Given the description of an element on the screen output the (x, y) to click on. 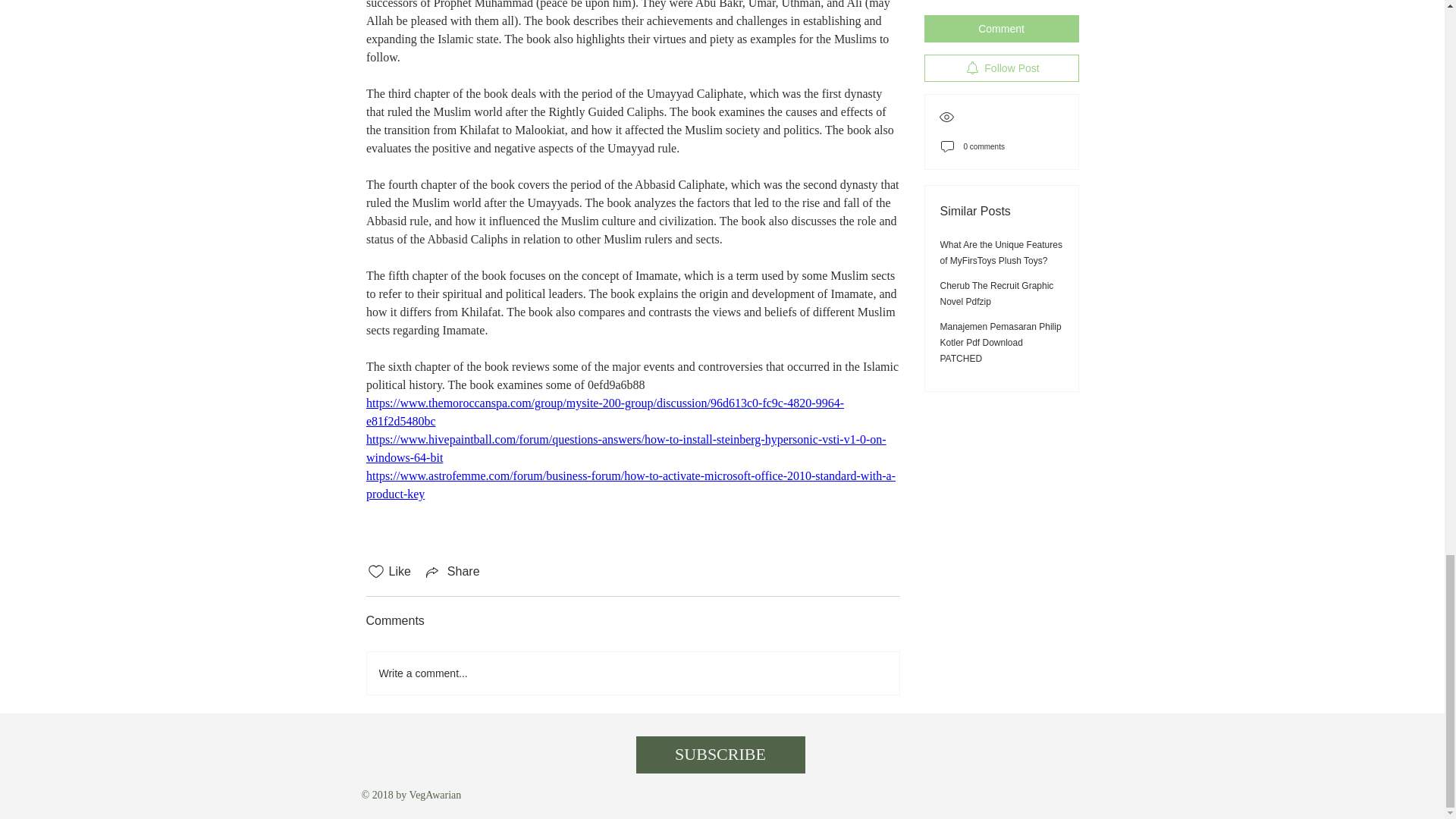
Write a comment... (632, 672)
SUBSCRIBE (719, 754)
Share (451, 571)
